Given the description of an element on the screen output the (x, y) to click on. 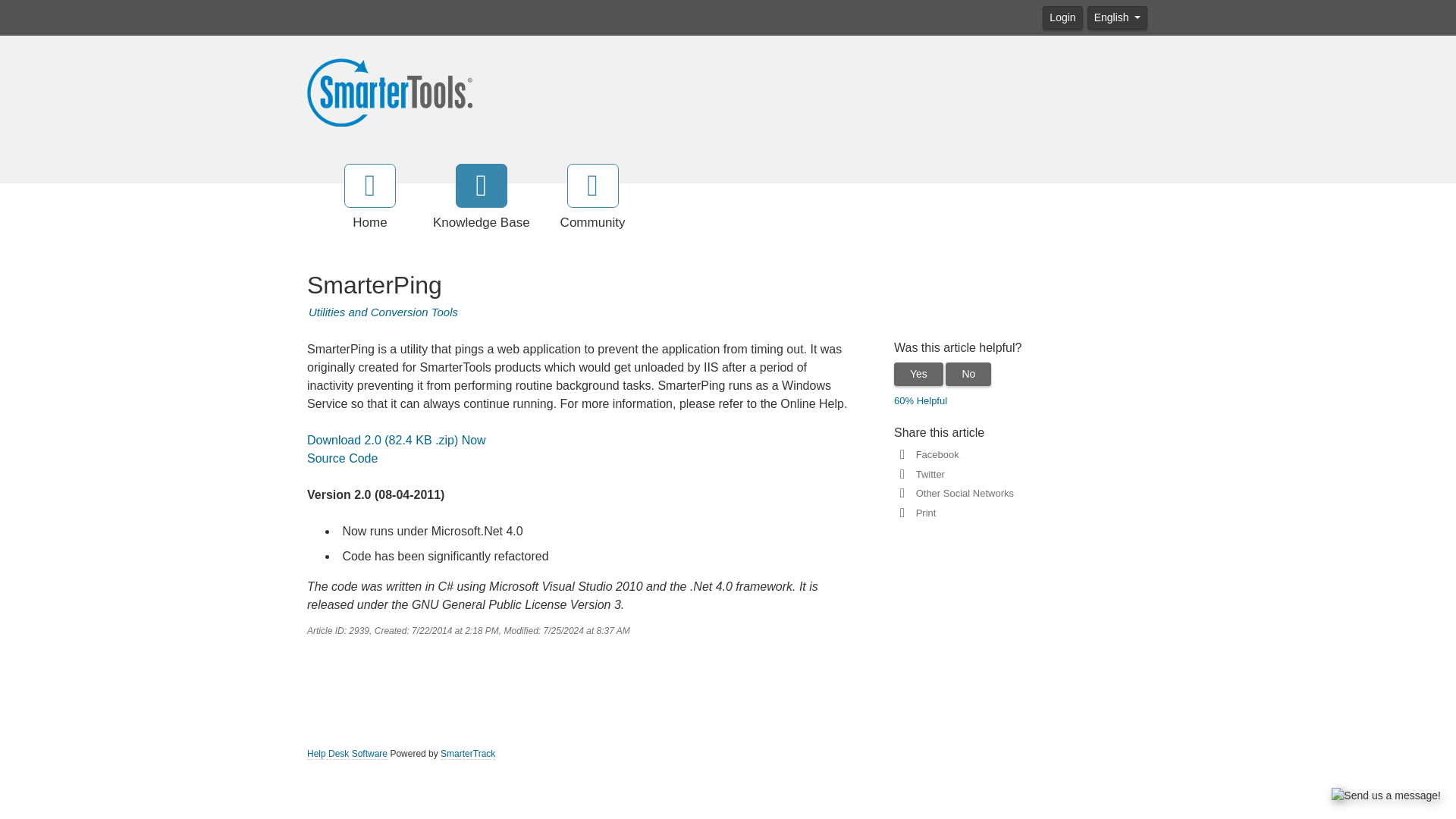
No (967, 373)
Source Code (342, 458)
Knowledge Base (480, 197)
SmarterTools (389, 90)
Community (592, 197)
English (1117, 17)
Home (370, 197)
Yes (918, 373)
Send us a message! (1386, 794)
Login (1061, 17)
Utilities and Conversion Tools (383, 311)
